Given the description of an element on the screen output the (x, y) to click on. 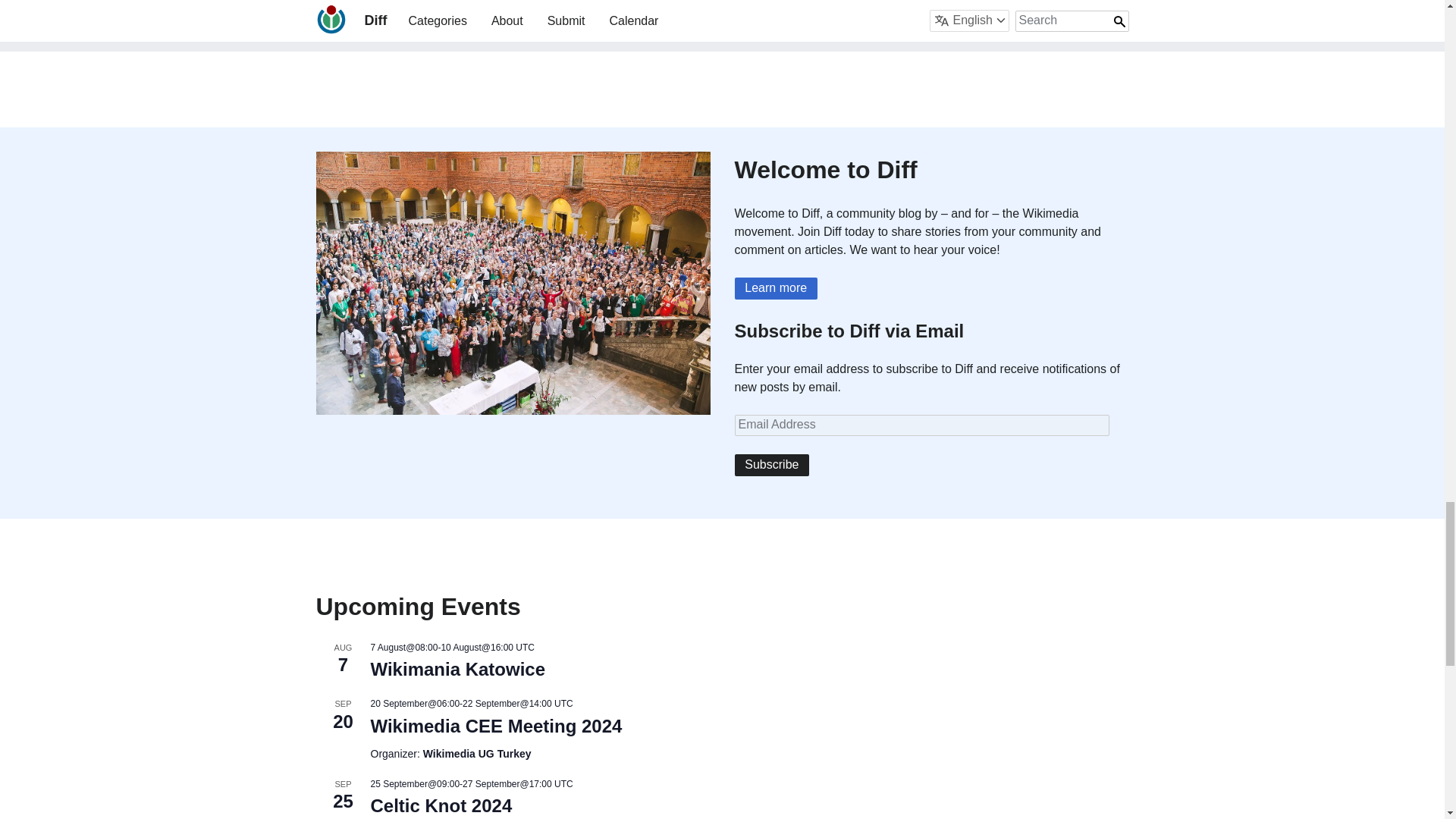
Subscribe (771, 464)
Wikimania Katowice (456, 669)
Wikimedia CEE Meeting 2024 (495, 726)
Learn more (774, 288)
